Given the description of an element on the screen output the (x, y) to click on. 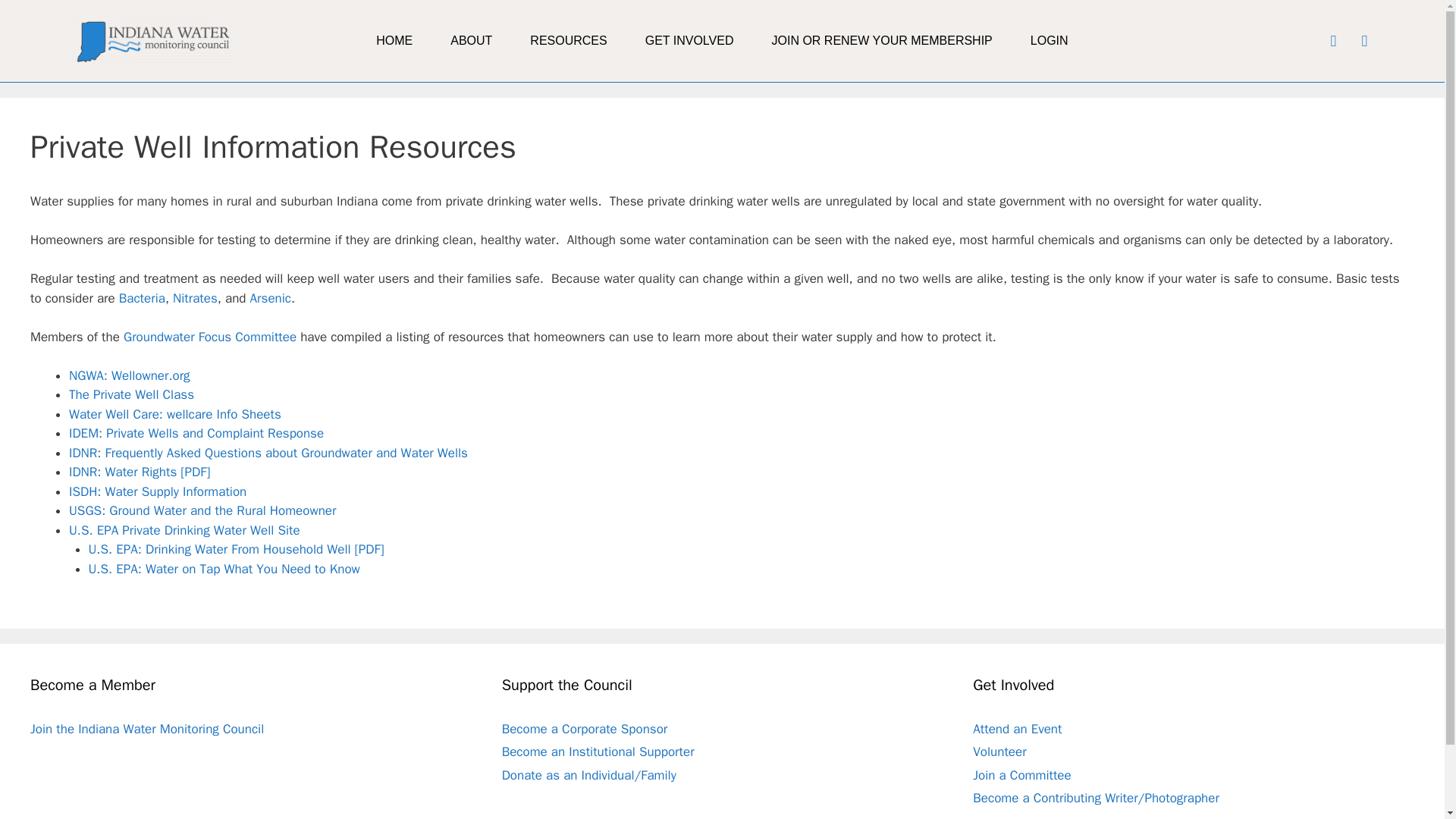
RESOURCES (568, 40)
JOIN OR RENEW YOUR MEMBERSHIP (881, 40)
LOGIN (1049, 40)
ABOUT (470, 40)
HOME (393, 40)
GET INVOLVED (689, 40)
